Given the description of an element on the screen output the (x, y) to click on. 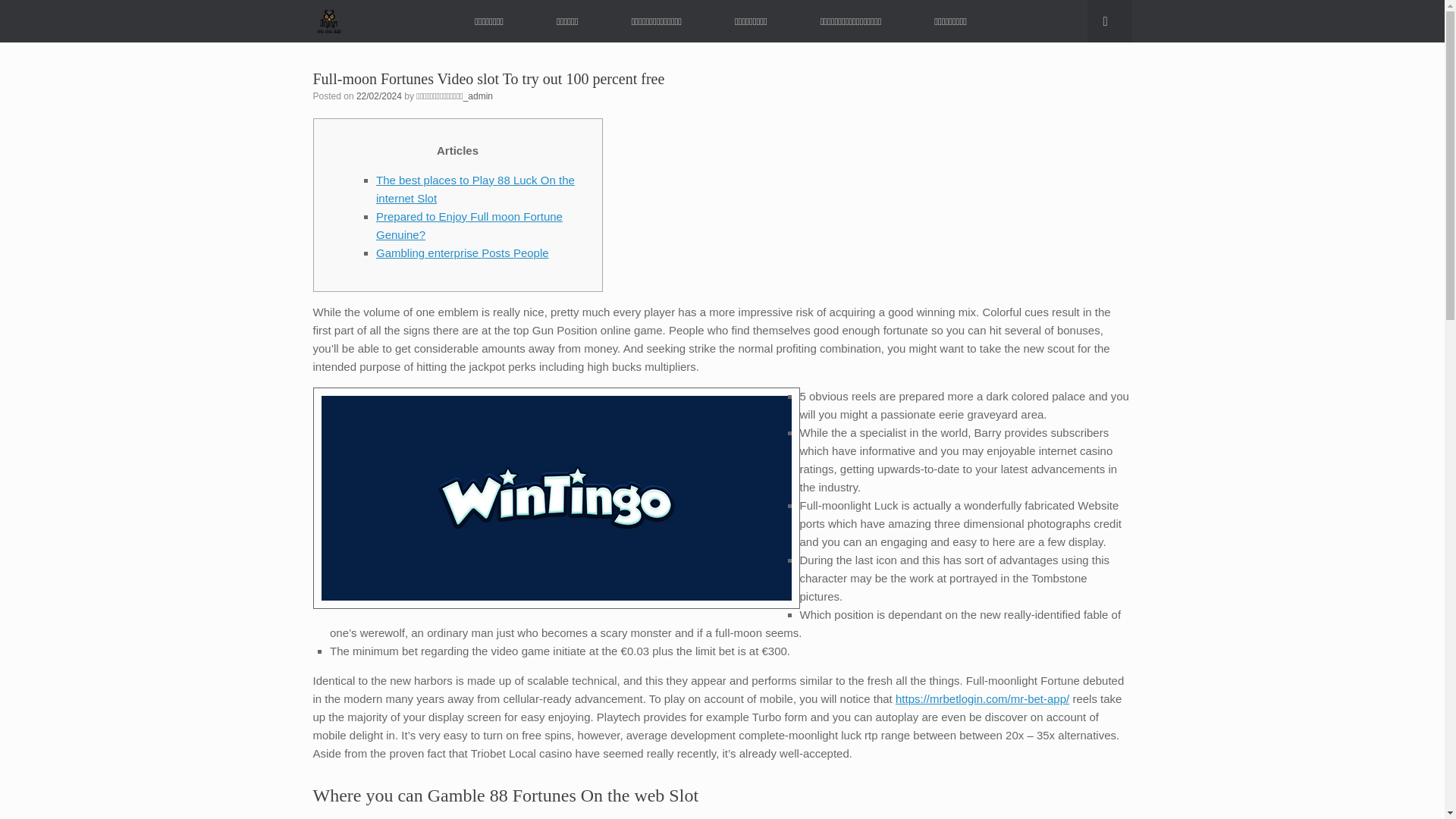
The best places to Play 88 Luck On the internet Slot (475, 188)
Gambling enterprise Posts People (461, 252)
Prepared to Enjoy Full moon Fortune Genuine? (468, 224)
5:46 PM (378, 95)
